Given the description of an element on the screen output the (x, y) to click on. 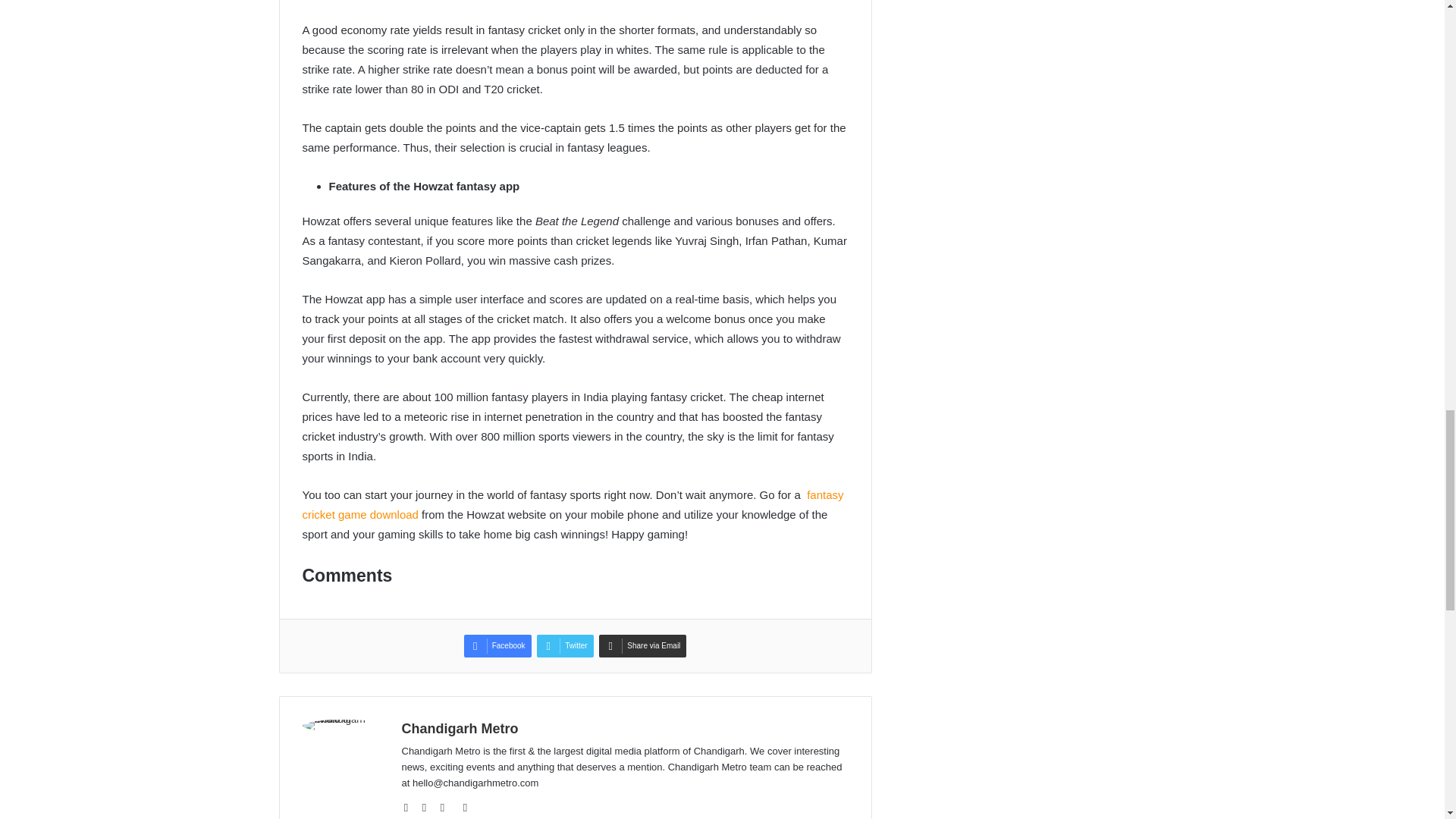
fantasy cricket game download (572, 504)
Facebook (497, 645)
Facebook (497, 645)
Share via Email (641, 645)
Share via Email (641, 645)
Twitter (564, 645)
Twitter (564, 645)
